Given the description of an element on the screen output the (x, y) to click on. 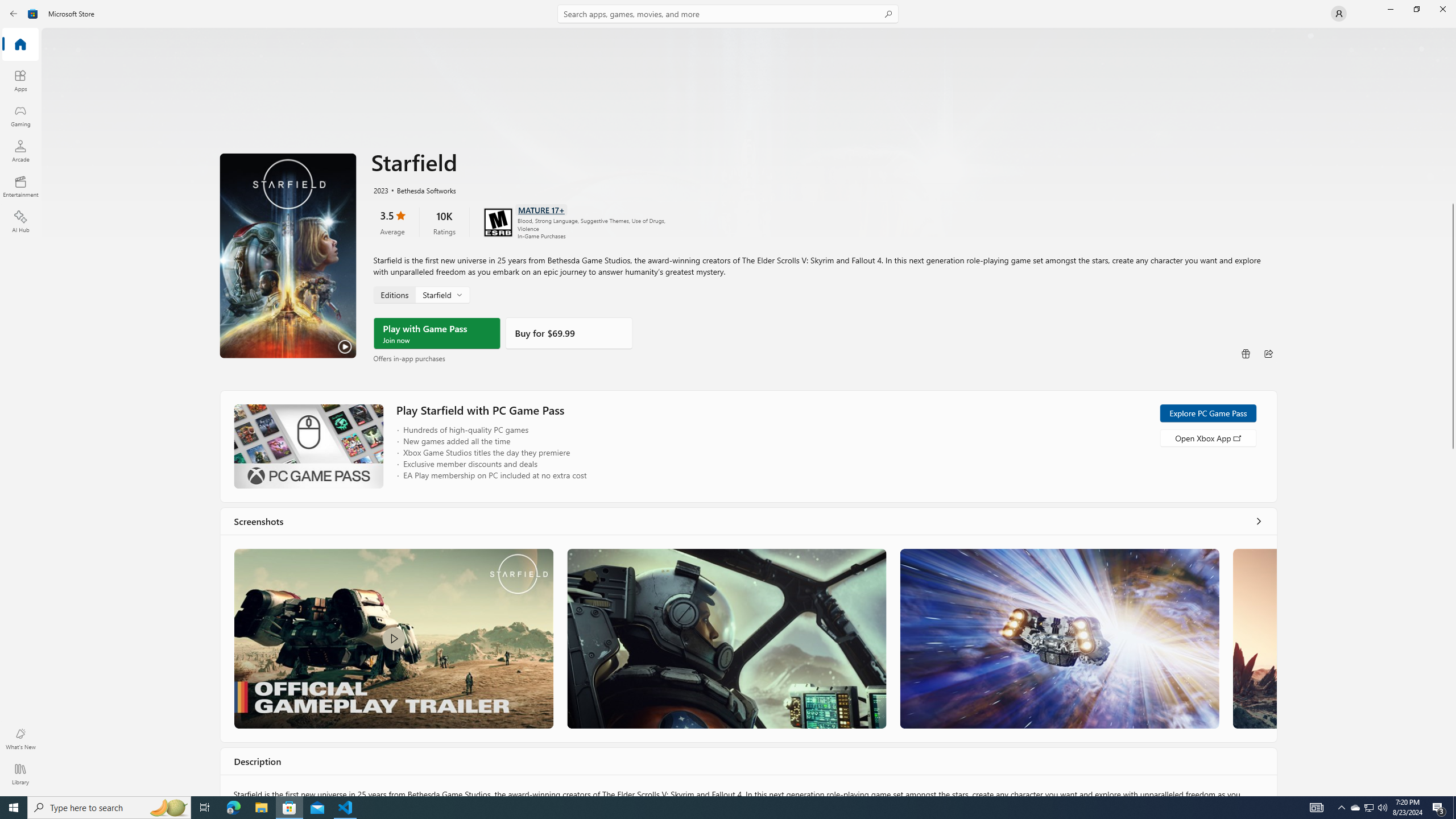
Restore Microsoft Store (1416, 9)
Library (20, 773)
3.5 stars. Click to skip to ratings and reviews (392, 221)
Screenshot 3 (1058, 638)
Entertainment (20, 185)
Buy as gift (1245, 353)
2023 (379, 189)
Apps (20, 80)
